Given the description of an element on the screen output the (x, y) to click on. 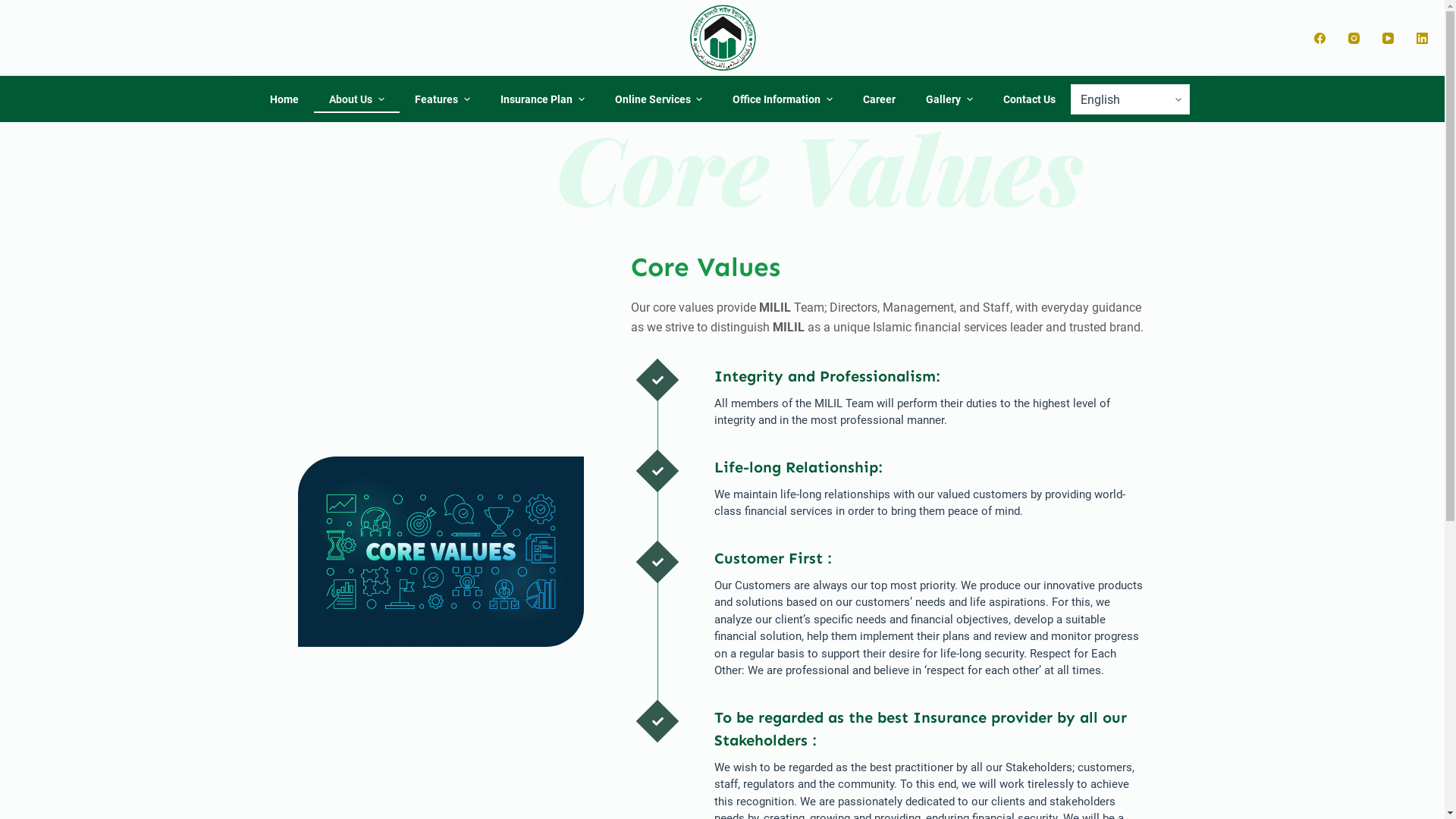
Contact Us Element type: text (1029, 98)
Insurance Plan Element type: text (542, 98)
Home Element type: text (283, 98)
Features Element type: text (442, 98)
Career Element type: text (878, 98)
Skip to content Element type: text (15, 7)
Gallery Element type: text (949, 98)
Office Information Element type: text (782, 98)
About Us Element type: text (356, 98)
Online Services Element type: text (658, 98)
